Given the description of an element on the screen output the (x, y) to click on. 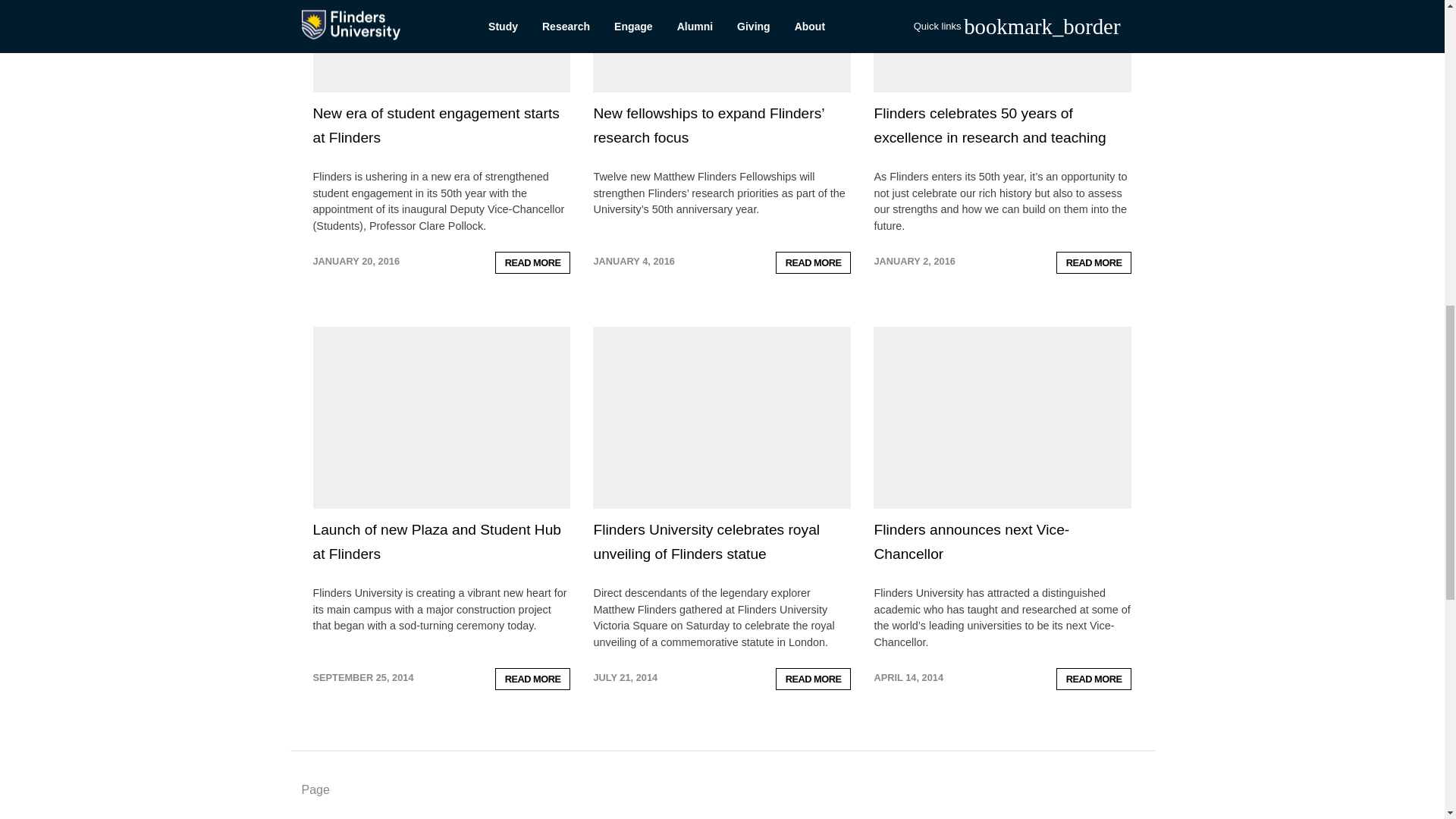
READ MORE (1094, 262)
READ MORE (813, 262)
READ MORE (532, 262)
READ MORE (813, 679)
Launch of new Plaza and Student Hub at Flinders (436, 541)
New era of student engagement starts at Flinders (436, 125)
Flinders announces next Vice-Chancellor (970, 541)
READ MORE (532, 679)
